Given the description of an element on the screen output the (x, y) to click on. 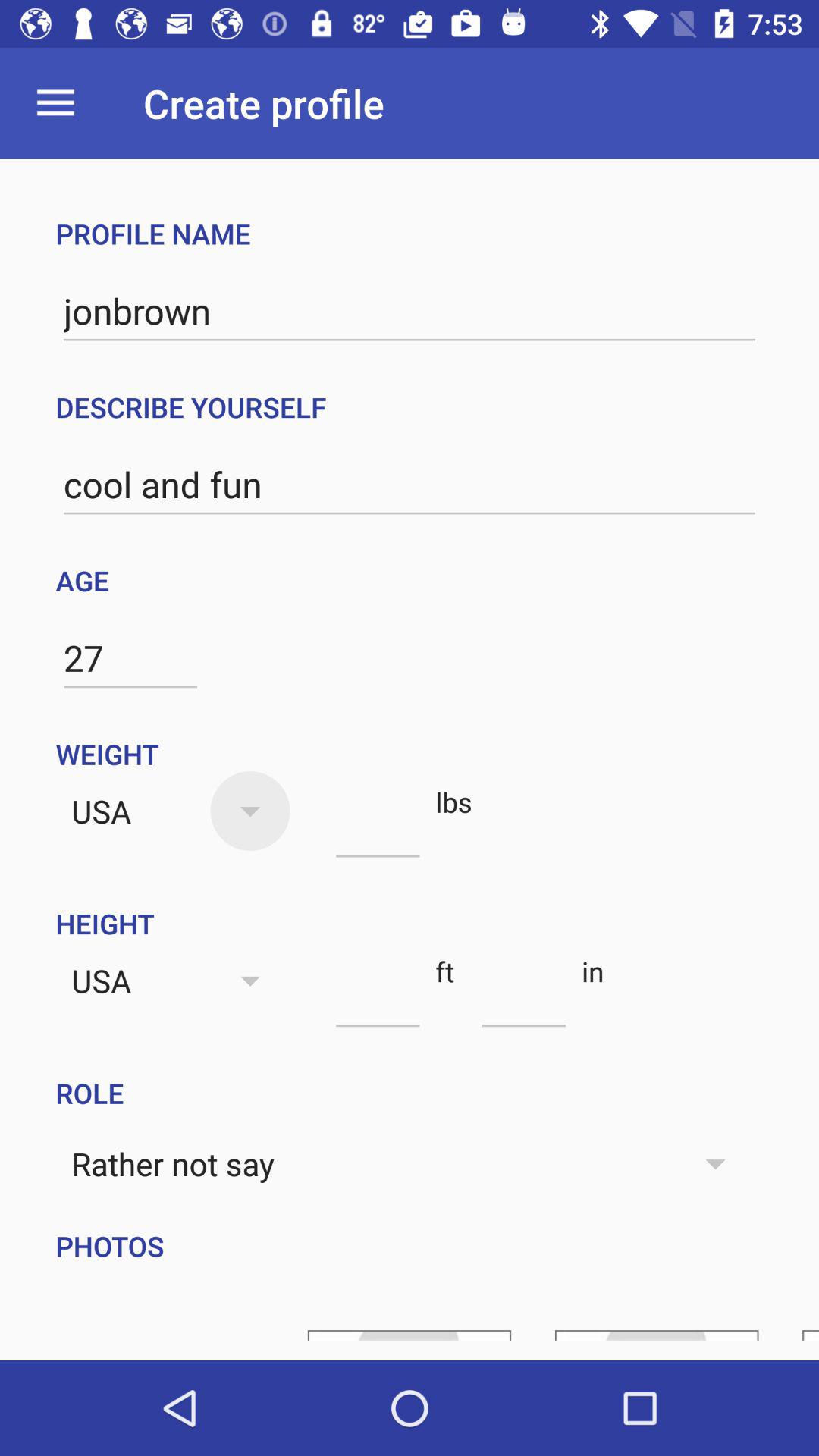
enter weight (377, 830)
